Given the description of an element on the screen output the (x, y) to click on. 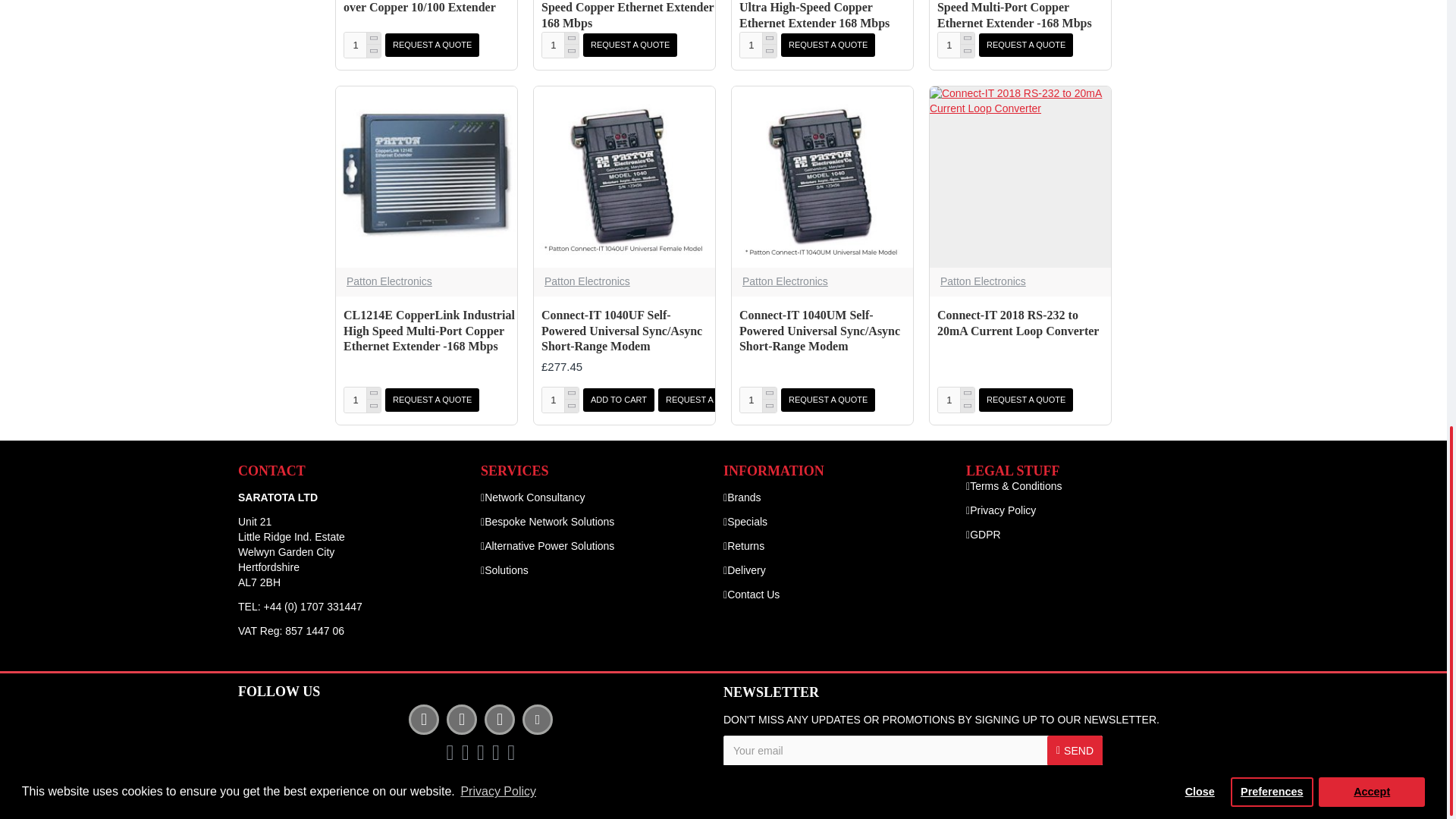
1 (955, 399)
1 (361, 399)
1 (559, 44)
1 (955, 44)
1 (757, 44)
1 (559, 399)
1 (728, 777)
1 (361, 44)
1 (757, 399)
